Given the description of an element on the screen output the (x, y) to click on. 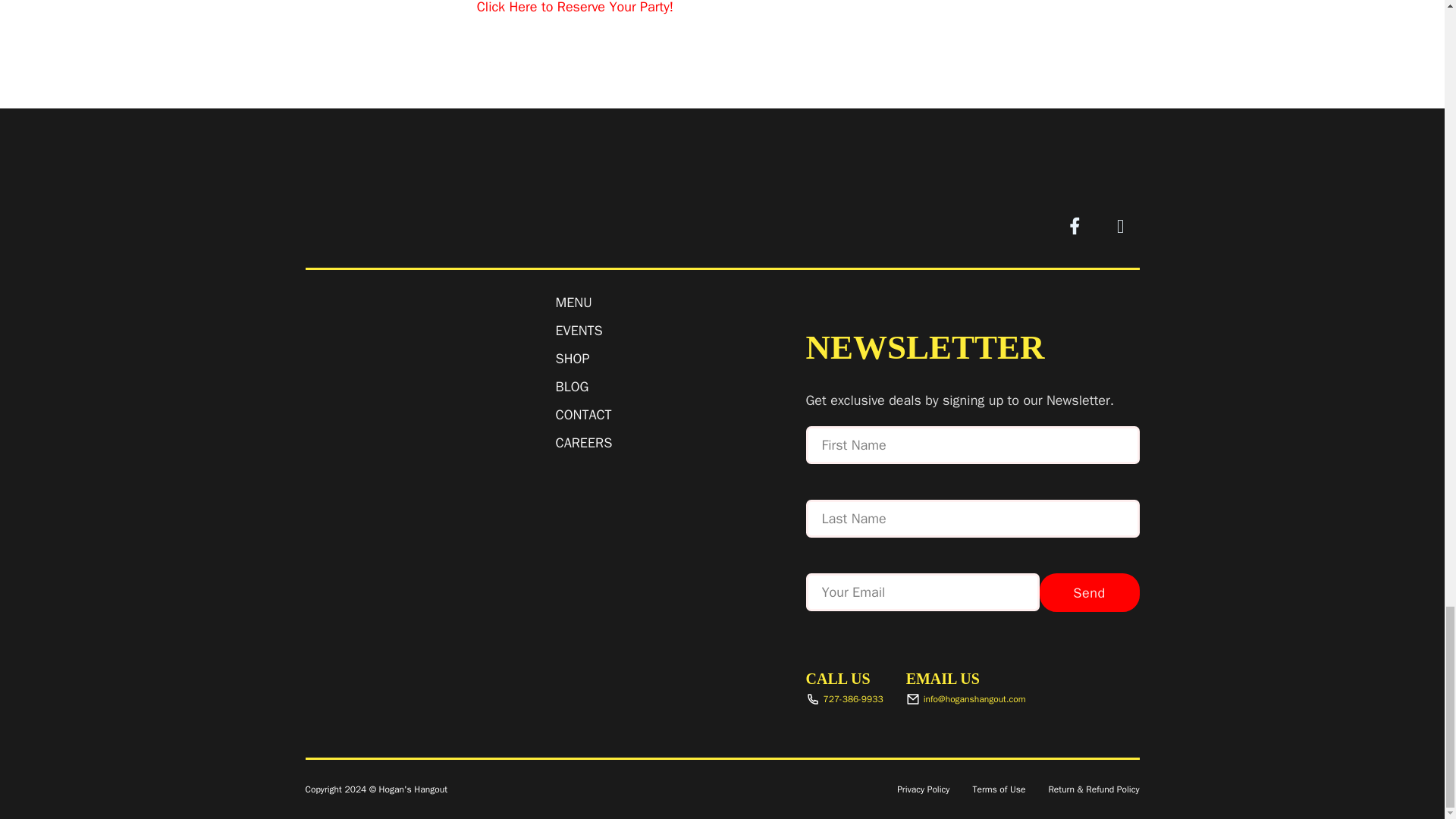
Follow me on LinkedIn (1119, 225)
CAREERS (582, 443)
727-386-9933 (843, 698)
CONTACT (582, 414)
EVENTS (578, 331)
MENU (572, 302)
SHOP (571, 358)
BLOG (571, 386)
Click Here to Reserve Your Party! (575, 7)
Send (1088, 592)
